Given the description of an element on the screen output the (x, y) to click on. 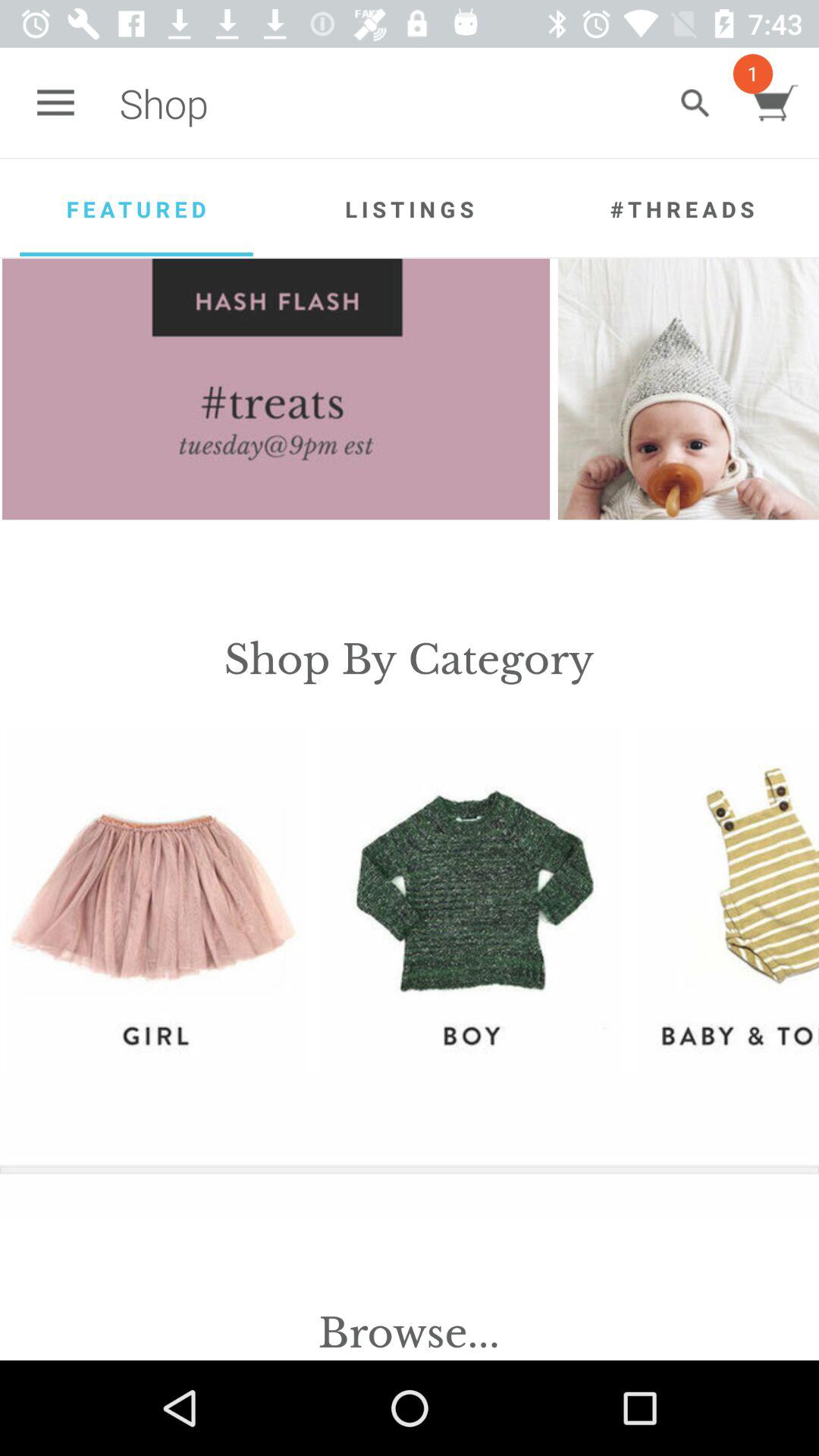
enlarge the picture of the baby (688, 388)
